Given the description of an element on the screen output the (x, y) to click on. 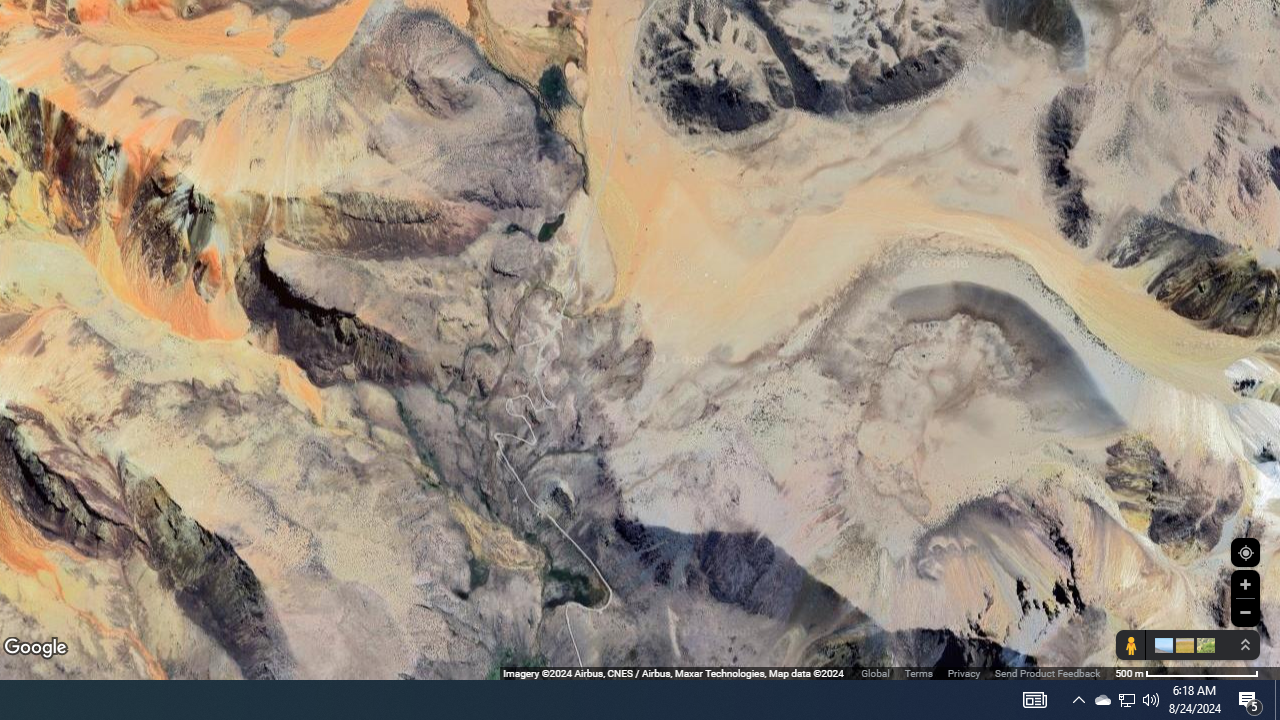
Zoom in (1245, 584)
Global (875, 672)
Send Product Feedback (1047, 672)
Zoom out (1245, 612)
Show Your Location (1245, 552)
Show imagery (1202, 645)
Show Street View coverage (1130, 645)
500 m (1186, 672)
